Given the description of an element on the screen output the (x, y) to click on. 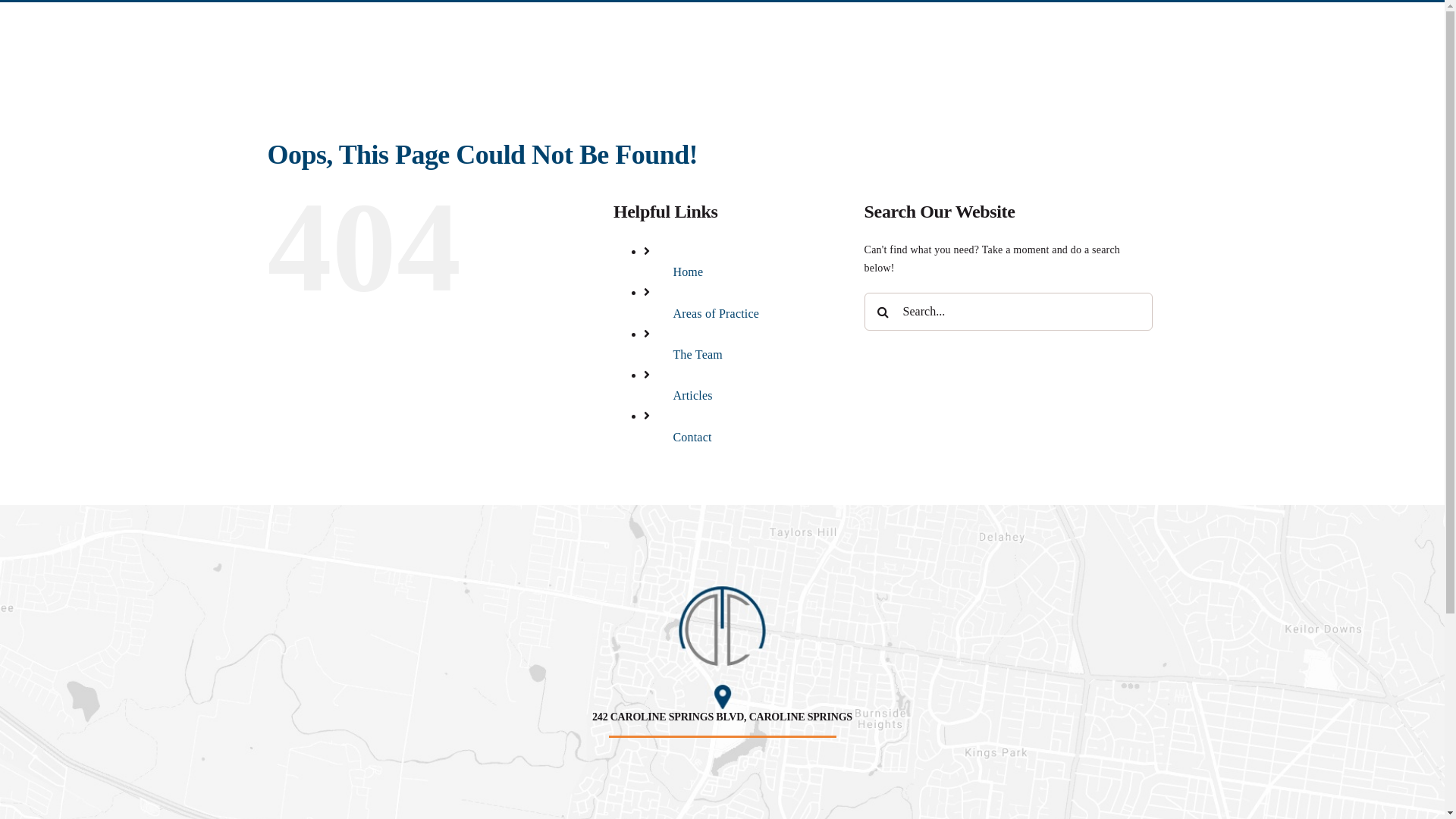
info@dcmlawyers.com Element type: text (1350, 27)
Articles Element type: text (1320, 56)
Articles Element type: text (692, 395)
Home Element type: text (687, 271)
Areas of Practice Element type: text (1183, 56)
03 8390 5870 Element type: text (1253, 27)
The Team Element type: text (1262, 56)
Contact Element type: text (1374, 56)
The Team Element type: text (697, 354)
Home Element type: text (1113, 56)
Areas of Practice Element type: text (715, 313)
Contact Element type: text (691, 436)
